Given the description of an element on the screen output the (x, y) to click on. 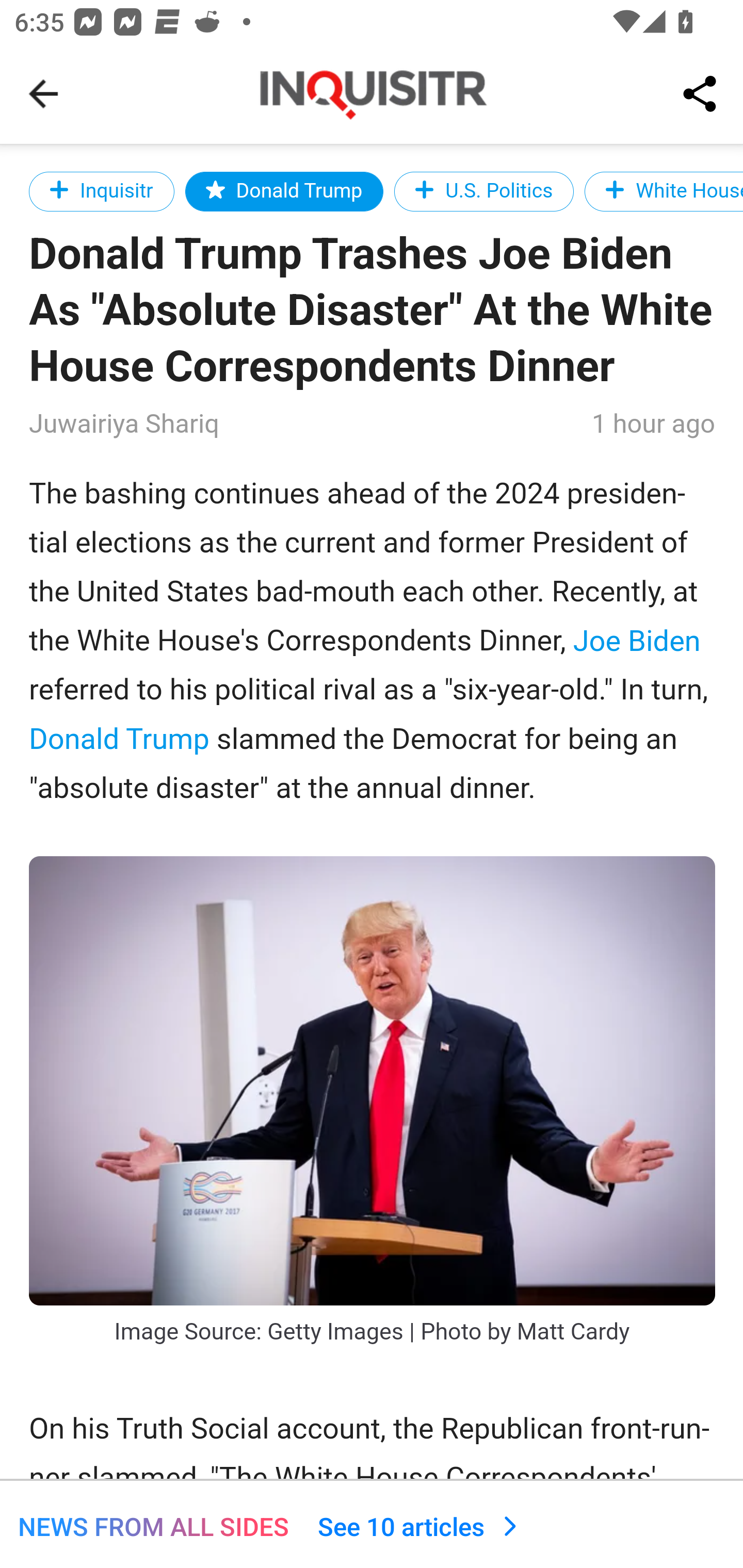
Inquisitr (101, 191)
Donald Trump (284, 191)
U.S. Politics (483, 191)
White House (663, 191)
Joe Biden (637, 640)
Donald Trump (119, 739)
NEWS FROM ALL SIDES See 10 articles (371, 1524)
